Given the description of an element on the screen output the (x, y) to click on. 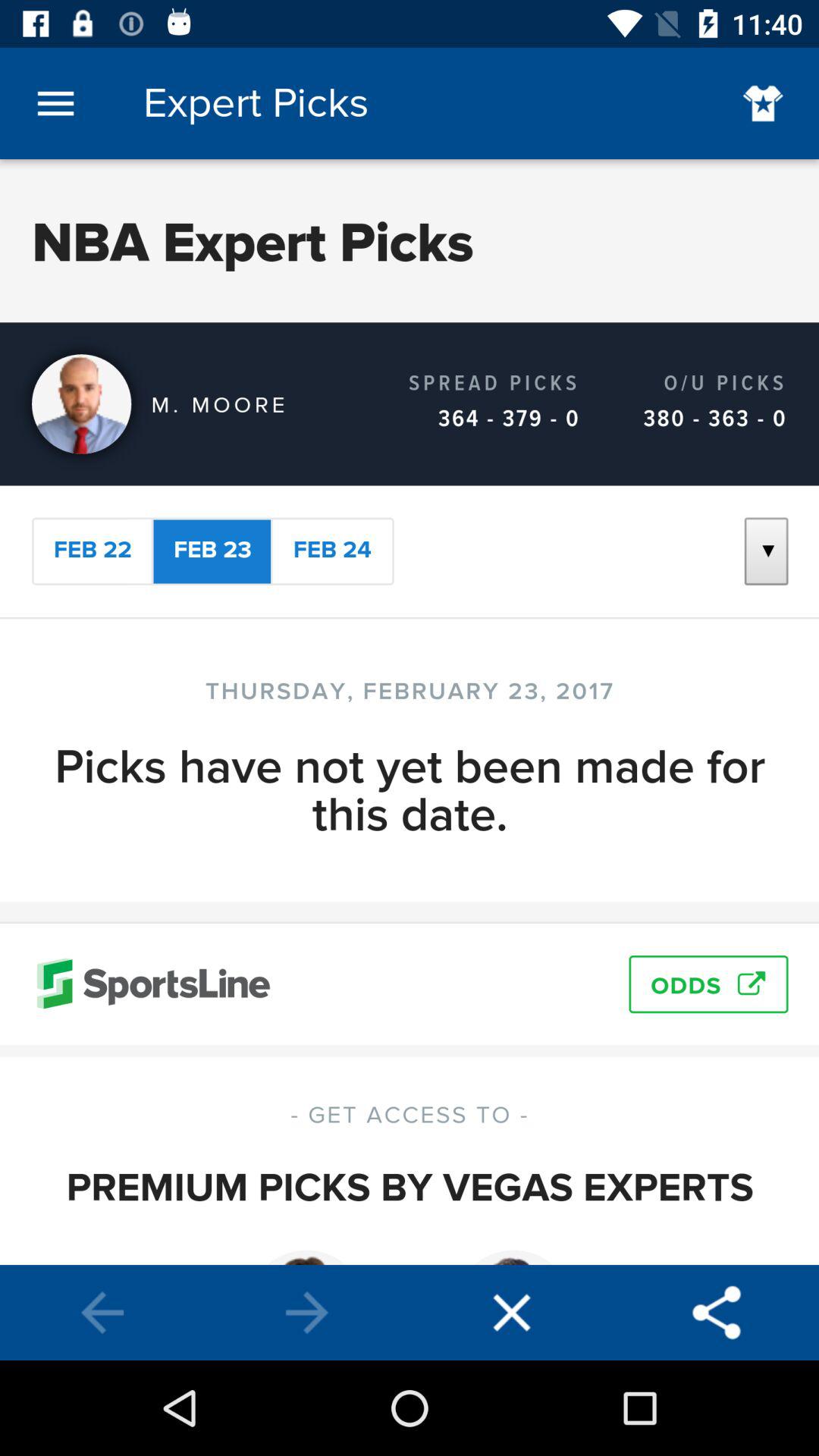
exit (511, 1312)
